Given the description of an element on the screen output the (x, y) to click on. 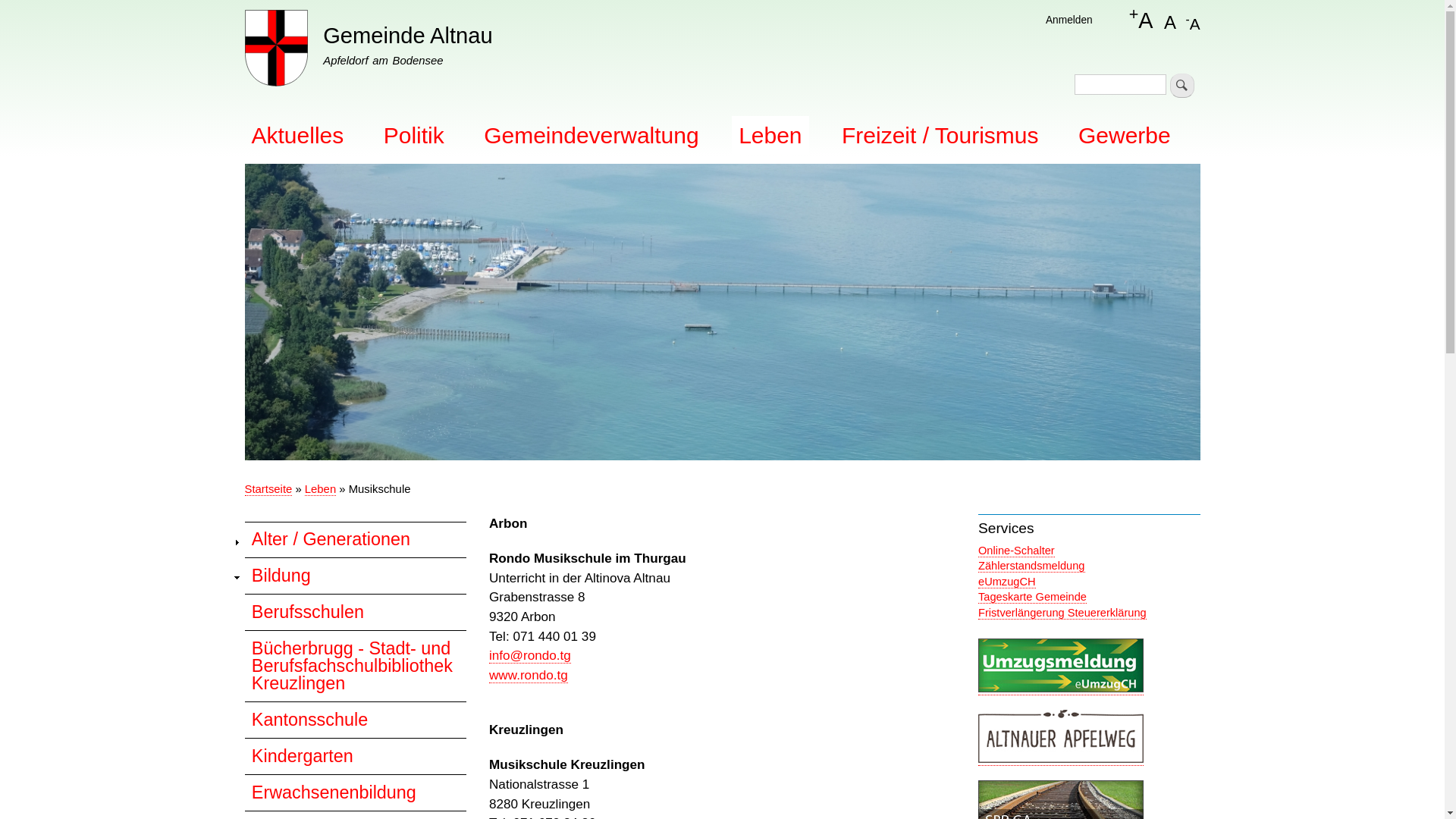
-A Element type: text (1192, 20)
Leben Element type: text (319, 489)
Gewerbe Element type: text (1124, 135)
Kindergarten Element type: text (355, 755)
Bildung Element type: text (355, 575)
info@rondo.tg Element type: text (530, 655)
Startseite Element type: text (267, 489)
Suche Element type: text (1182, 85)
Leben Element type: text (769, 135)
Kantonsschule Element type: text (355, 719)
Gemeinde Altnau Element type: text (407, 35)
A Element type: text (1170, 20)
Politik Element type: text (413, 135)
Anmelden Element type: text (1068, 19)
www.rondo.tg Element type: text (528, 675)
Startseite Element type: hover (275, 50)
Tageskarte Gemeinde Element type: text (1032, 596)
eUmzugCH Element type: text (1006, 581)
Die Begriffe eingeben, nach denen gesucht werden soll. Element type: hover (1120, 84)
Alter / Generationen Element type: text (355, 539)
Berufsschulen Element type: text (355, 611)
Aktuelles Element type: text (297, 135)
Gemeindeverwaltung Element type: text (591, 135)
Freizeit / Tourismus Element type: text (939, 135)
Erwachsenenbildung Element type: text (355, 792)
+A Element type: text (1141, 20)
Online-Schalter Element type: text (1016, 550)
Direkt zum Inhalt Element type: text (722, 1)
